Given the description of an element on the screen output the (x, y) to click on. 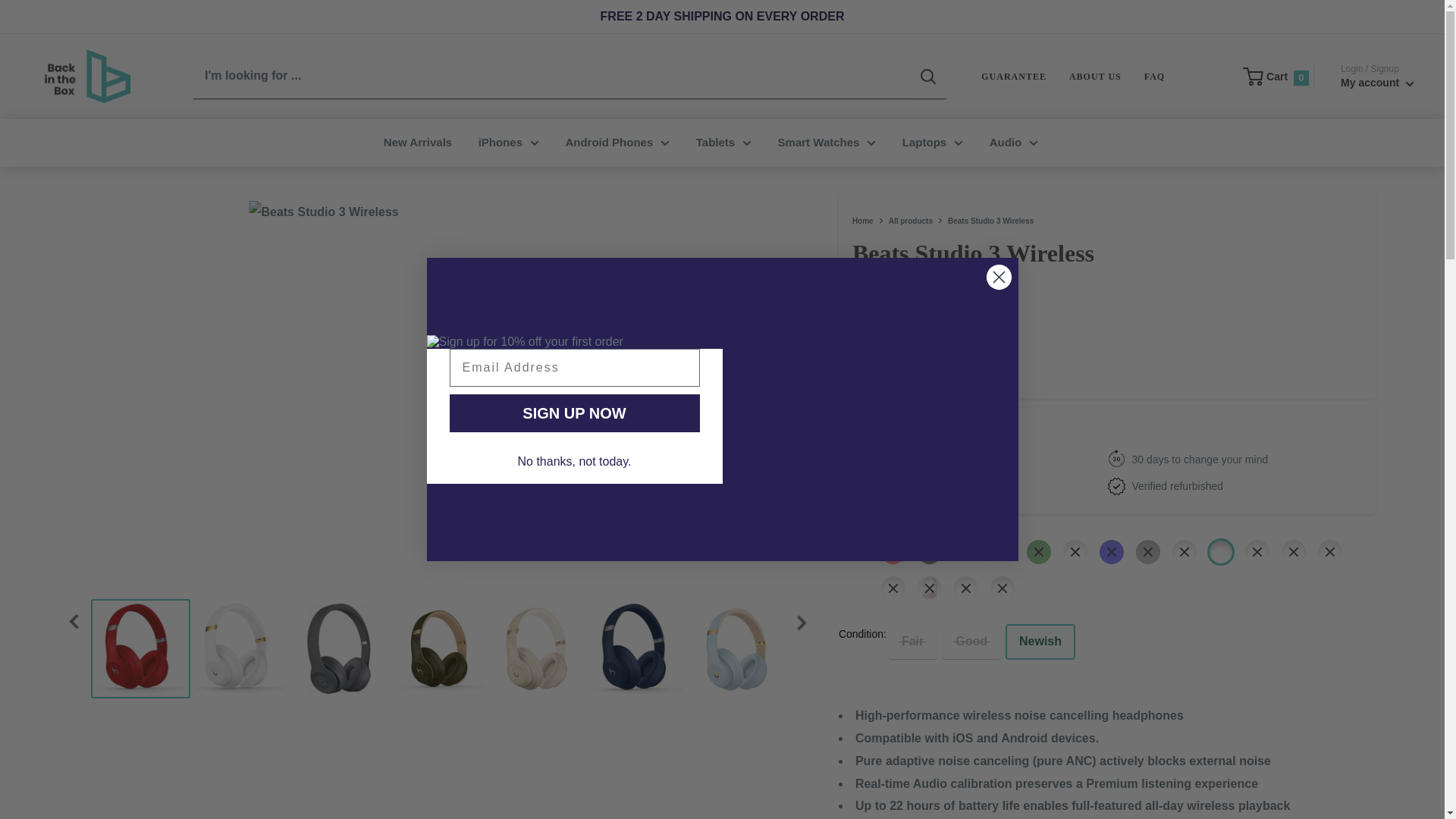
Crystal blue (1256, 551)
red (892, 551)
gloss white (892, 588)
black (929, 551)
matte black (1293, 551)
Asphalt Gray (1002, 551)
rose (929, 588)
Shadow Gray (1220, 551)
gray (1147, 551)
white (965, 551)
desert sand (1329, 551)
Sand Dune (1074, 551)
blue (1111, 551)
Forest Green (1038, 551)
midnight black (1184, 551)
